Given the description of an element on the screen output the (x, y) to click on. 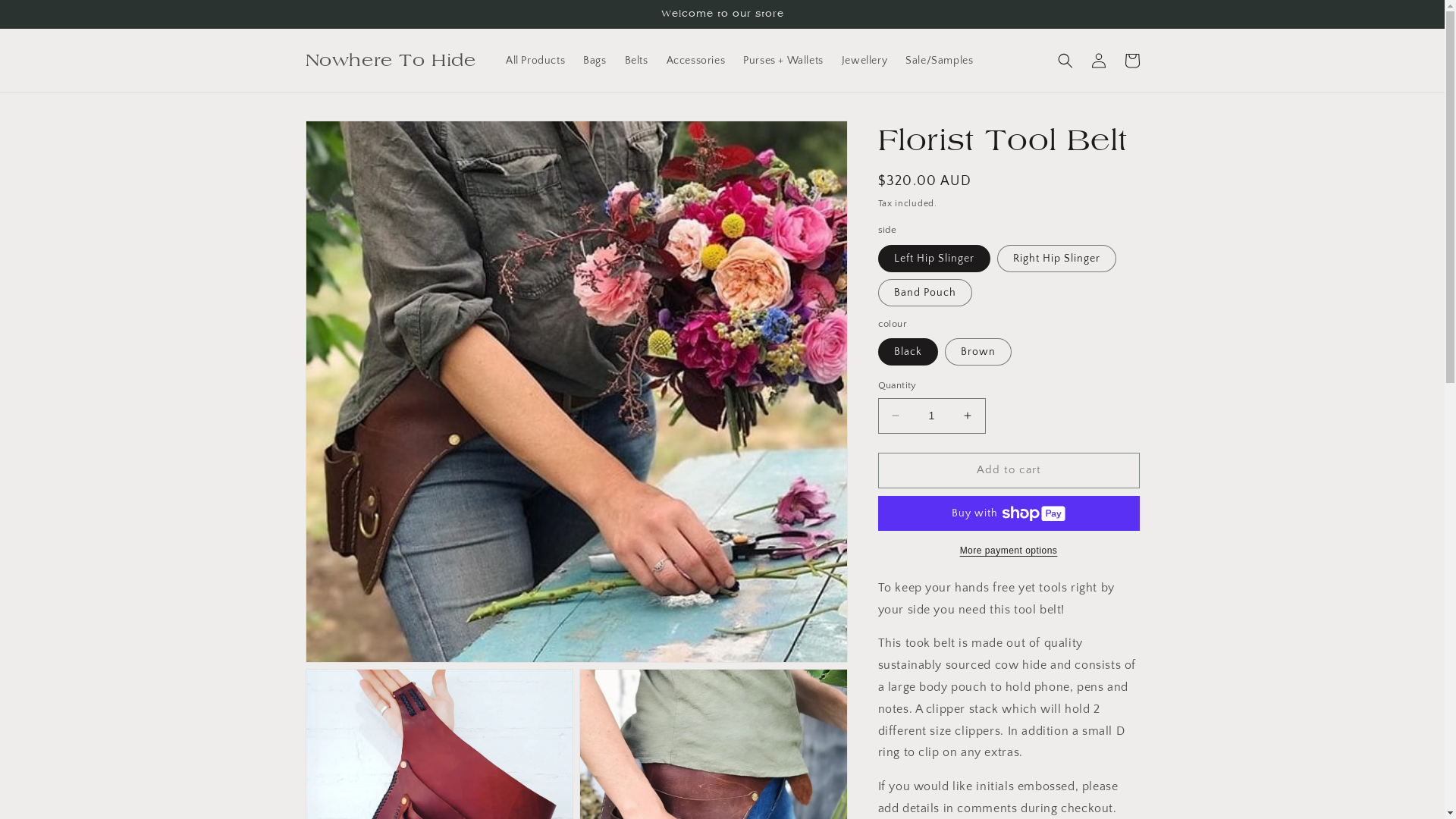
Jewellery Element type: text (864, 60)
More payment options Element type: text (1008, 550)
Decrease quantity for Florist Tool Belt Element type: text (895, 415)
Cart Element type: text (1131, 60)
Skip to product information Element type: text (350, 137)
All Products Element type: text (535, 60)
Nowhere To Hide Element type: text (390, 60)
Add to cart Element type: text (1008, 470)
Log in Element type: text (1097, 60)
Accessories Element type: text (695, 60)
Bags Element type: text (594, 60)
Sale/Samples Element type: text (939, 60)
Belts Element type: text (636, 60)
Purses + Wallets Element type: text (783, 60)
Increase quantity for Florist Tool Belt Element type: text (967, 415)
